Given the description of an element on the screen output the (x, y) to click on. 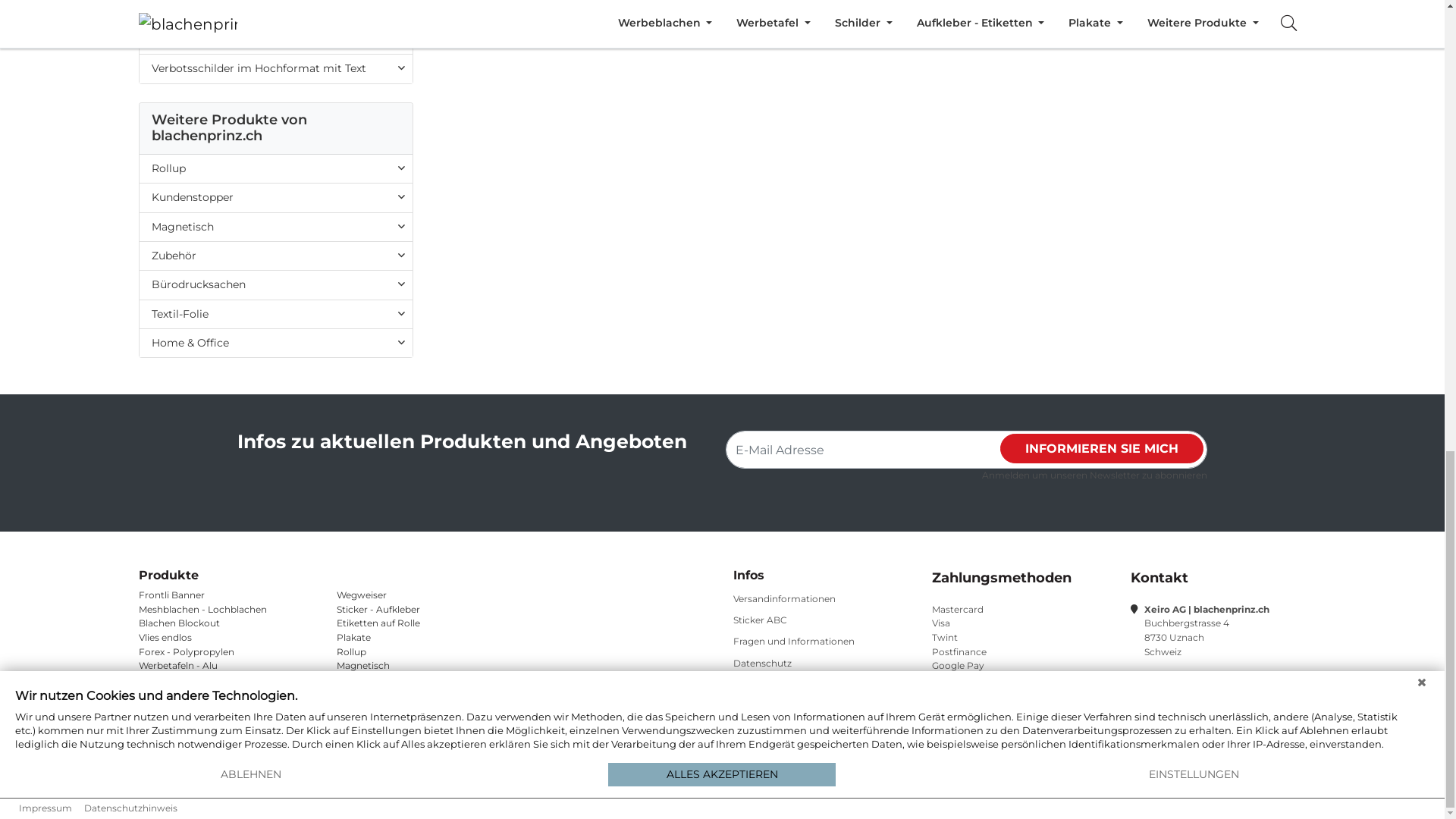
Sale - Blachenvorlagen Element type: text (276, 233)
Forex - Polypropylen Element type: text (276, 316)
Gold-, Silber und Neonfolien Element type: text (276, 665)
Fahrzeug-Aufkleber drucken lassen Element type: text (276, 561)
Kontakt Element type: text (1065, 12)
Sticker - Aufkleber Element type: text (276, 503)
Karton Element type: text (276, 374)
Einkaufswagen 0 Element type: text (1238, 12)
Kundenkonto Element type: text (1139, 12)
Plakate Element type: text (276, 748)
055 290 16 59 Element type: text (992, 12)
Transparente Aufkleber bedrucken Element type: text (276, 532)
Werbetafeln - Alu Element type: text (276, 346)
